Given the description of an element on the screen output the (x, y) to click on. 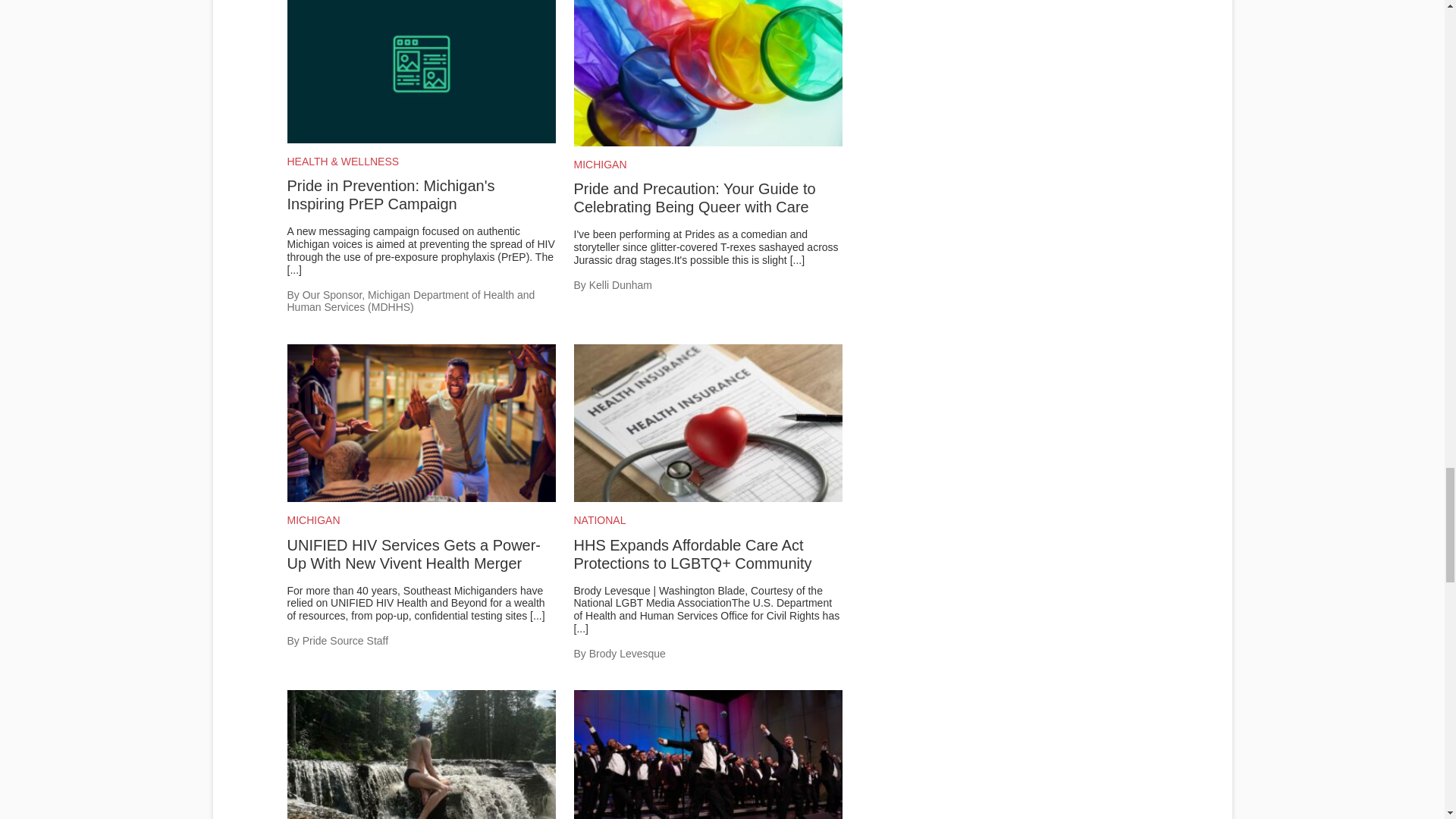
Read More (580, 628)
Read More (293, 269)
Read More (536, 615)
Read More (797, 259)
